Given the description of an element on the screen output the (x, y) to click on. 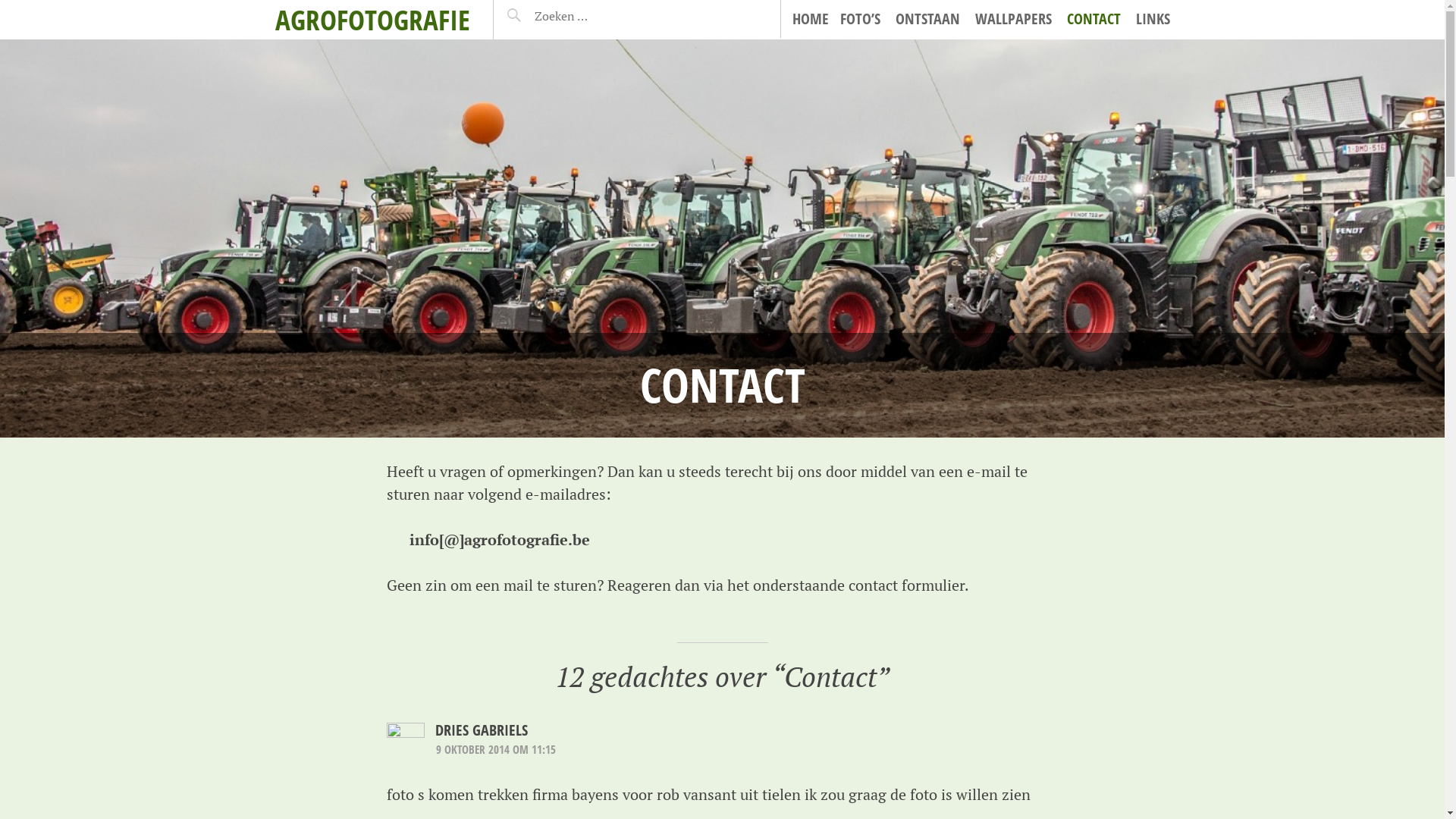
CONTACT Element type: text (1093, 18)
9 OKTOBER 2014 OM 11:15 Element type: text (495, 748)
ONTSTAAN Element type: text (926, 18)
Zoeken Element type: text (541, 15)
LINKS Element type: text (1152, 18)
AGROFOTOGRAFIE Element type: text (371, 19)
WALLPAPERS Element type: text (1013, 18)
HOME Element type: text (809, 18)
